Given the description of an element on the screen output the (x, y) to click on. 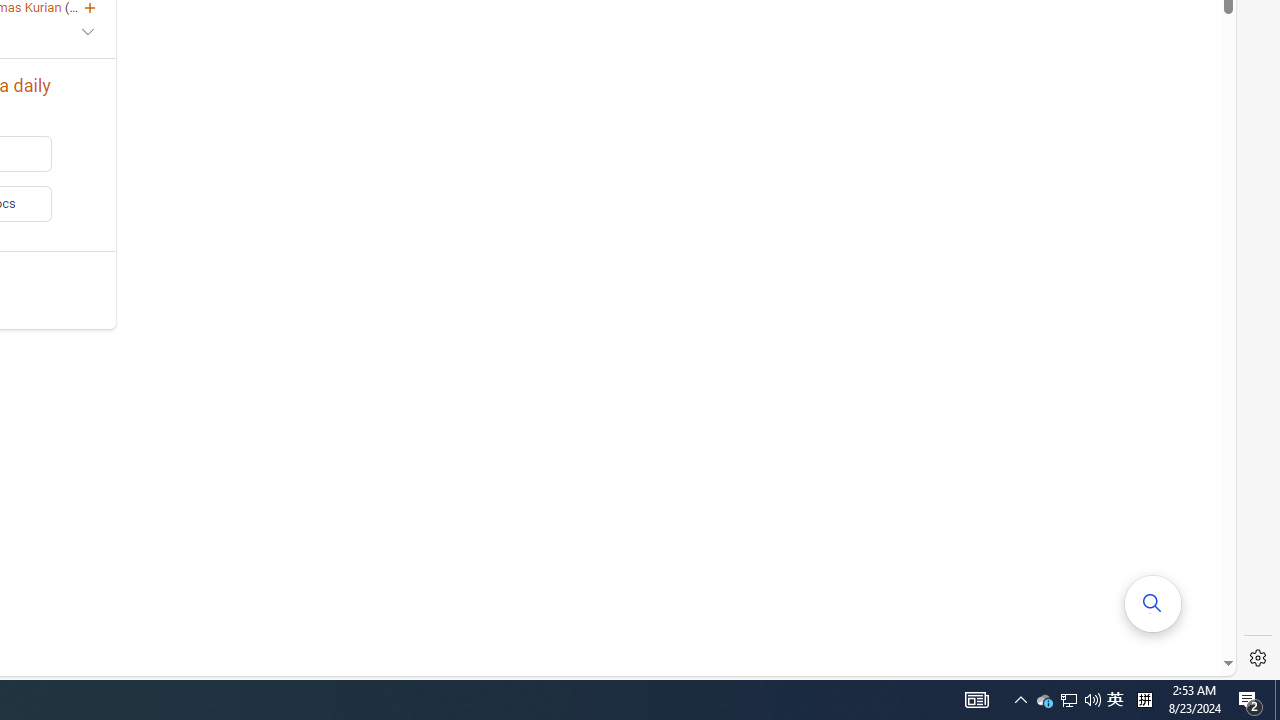
AutomationID: mfa_root (1153, 603)
Search more (1153, 604)
Settings (1258, 658)
